Given the description of an element on the screen output the (x, y) to click on. 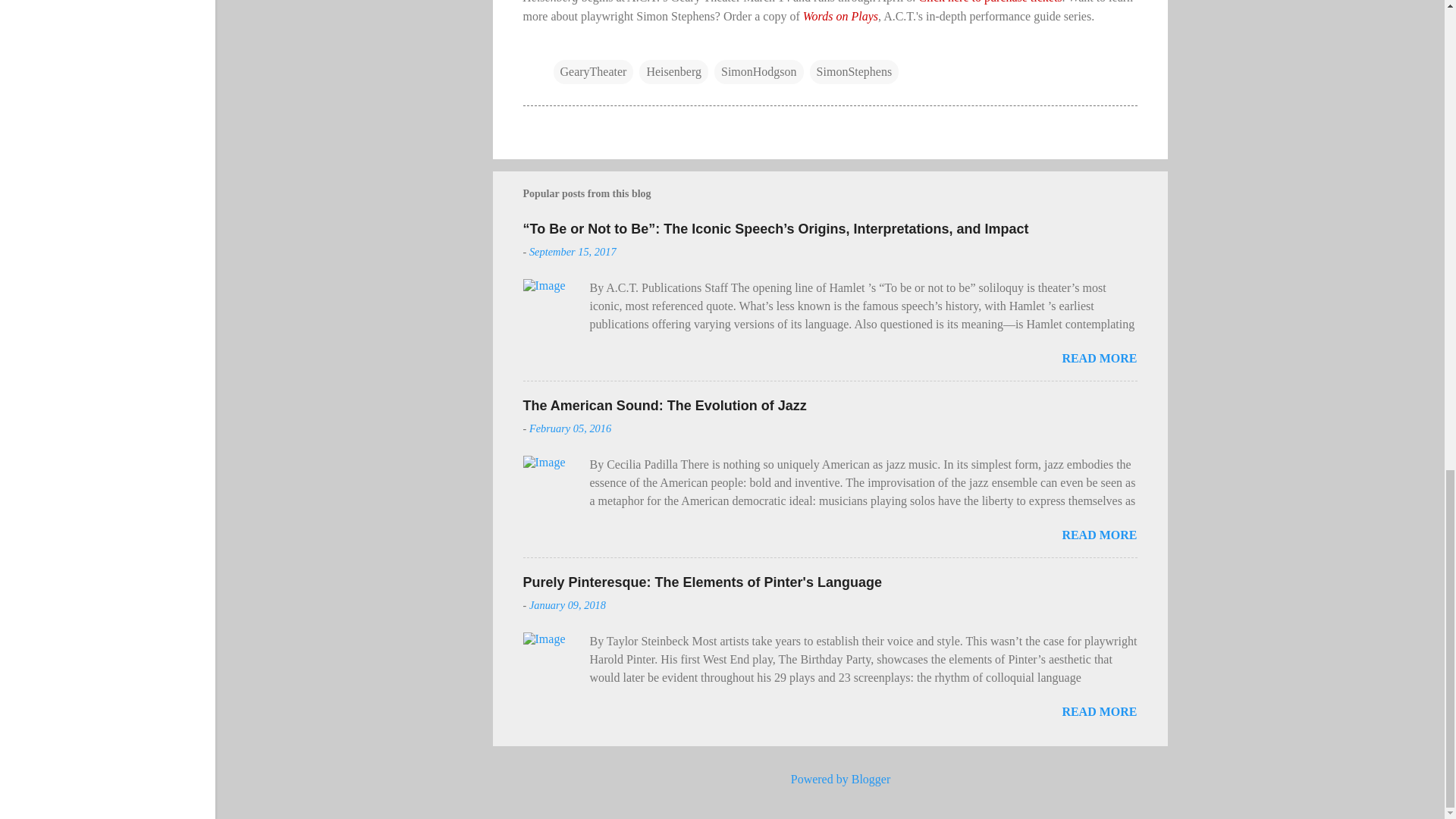
Words on Plays (840, 15)
READ MORE (1099, 358)
Purely Pinteresque: The Elements of Pinter's Language (702, 581)
READ MORE (1099, 534)
The American Sound: The Evolution of Jazz (664, 405)
SimonHodgson (758, 71)
READ MORE (1099, 711)
Heisenberg (673, 71)
September 15, 2017 (572, 251)
GearyTheater (593, 71)
